Given the description of an element on the screen output the (x, y) to click on. 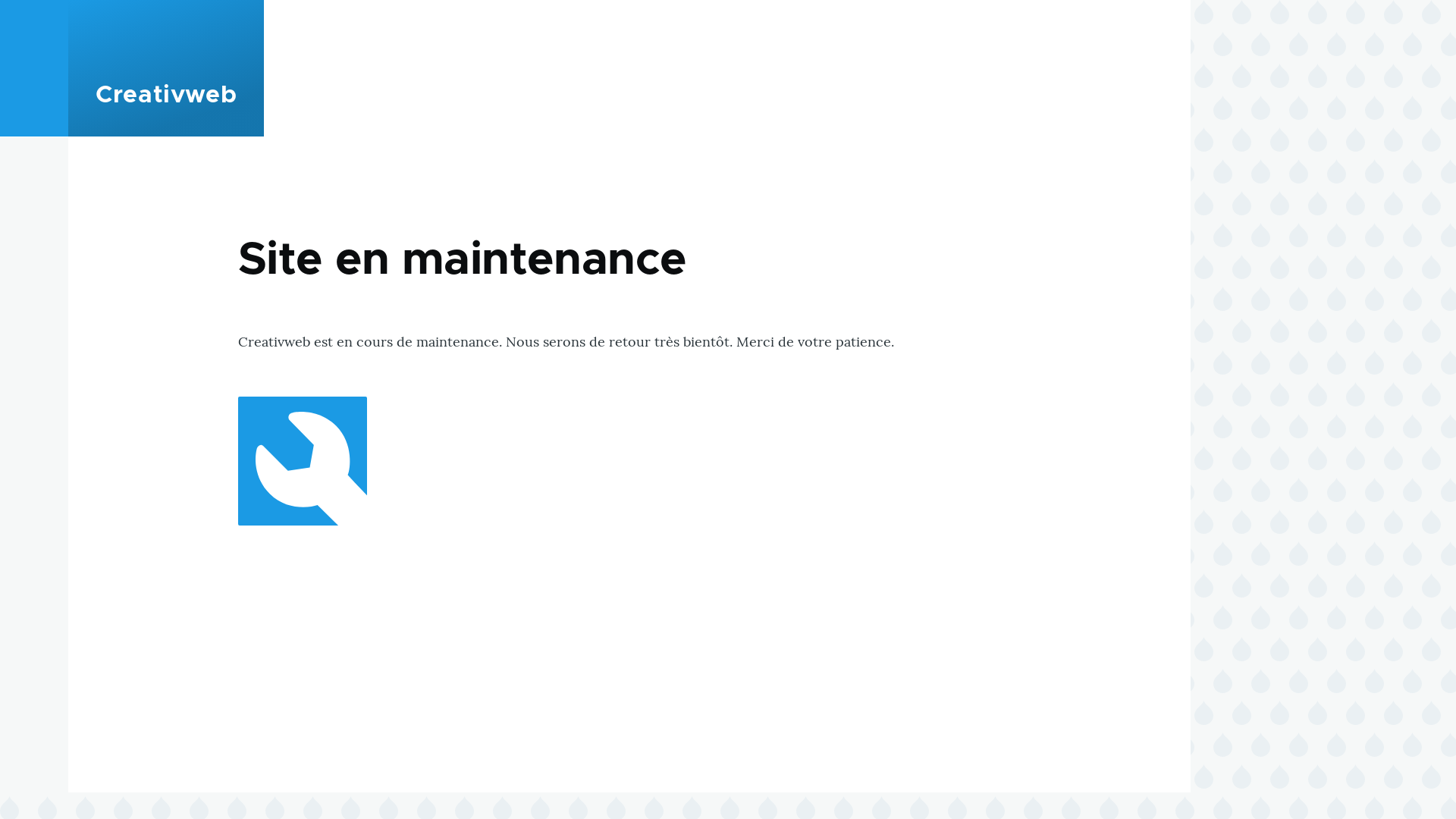
Aller au contenu principal Element type: text (595, 6)
